Given the description of an element on the screen output the (x, y) to click on. 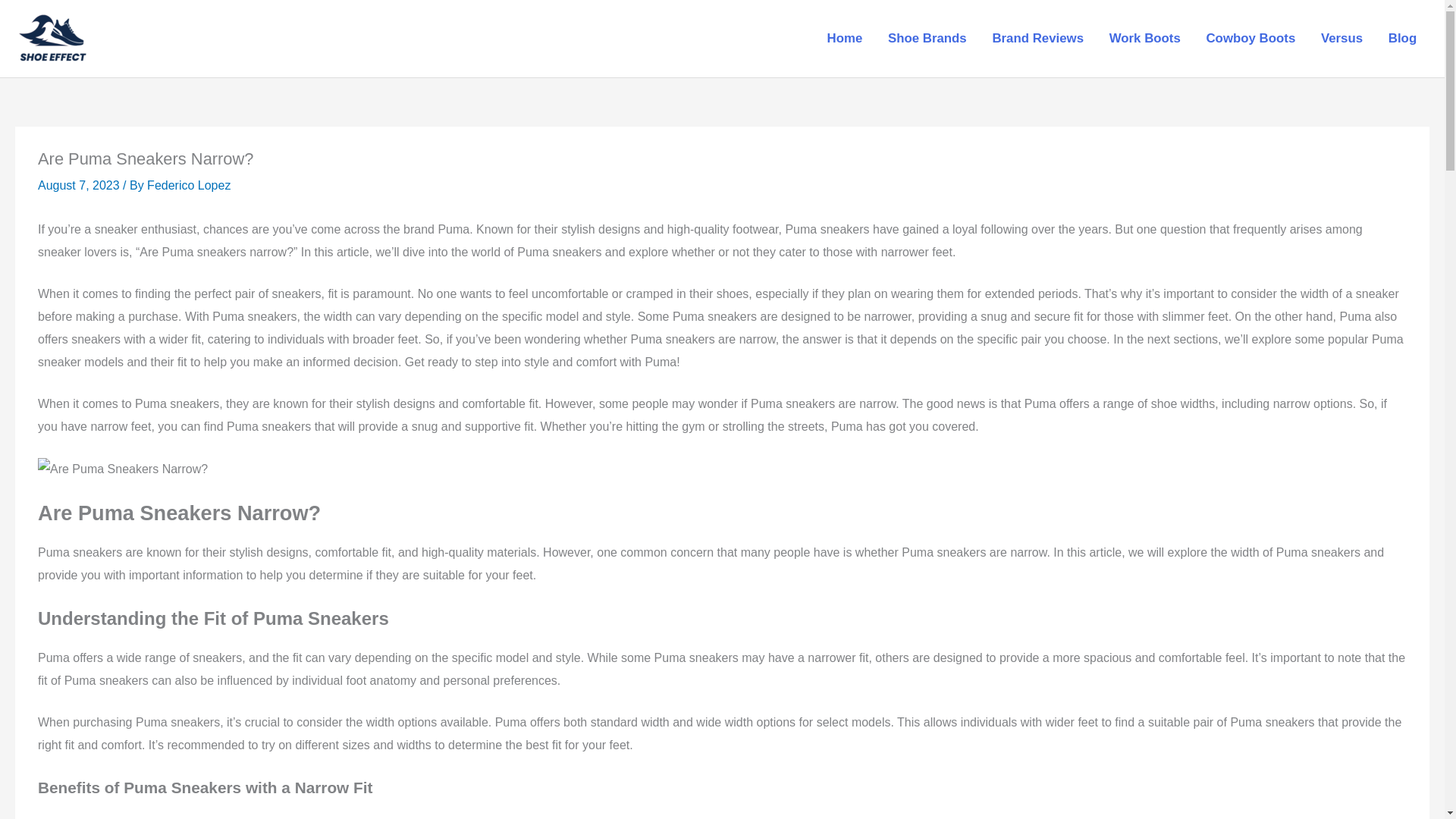
Versus (1341, 38)
Federico Lopez (188, 185)
Brand Reviews (1037, 38)
Blog (1402, 38)
Home (844, 38)
Cowboy Boots (1250, 38)
View all posts by Federico Lopez (188, 185)
Work Boots (1144, 38)
Shoe Brands (926, 38)
